Given the description of an element on the screen output the (x, y) to click on. 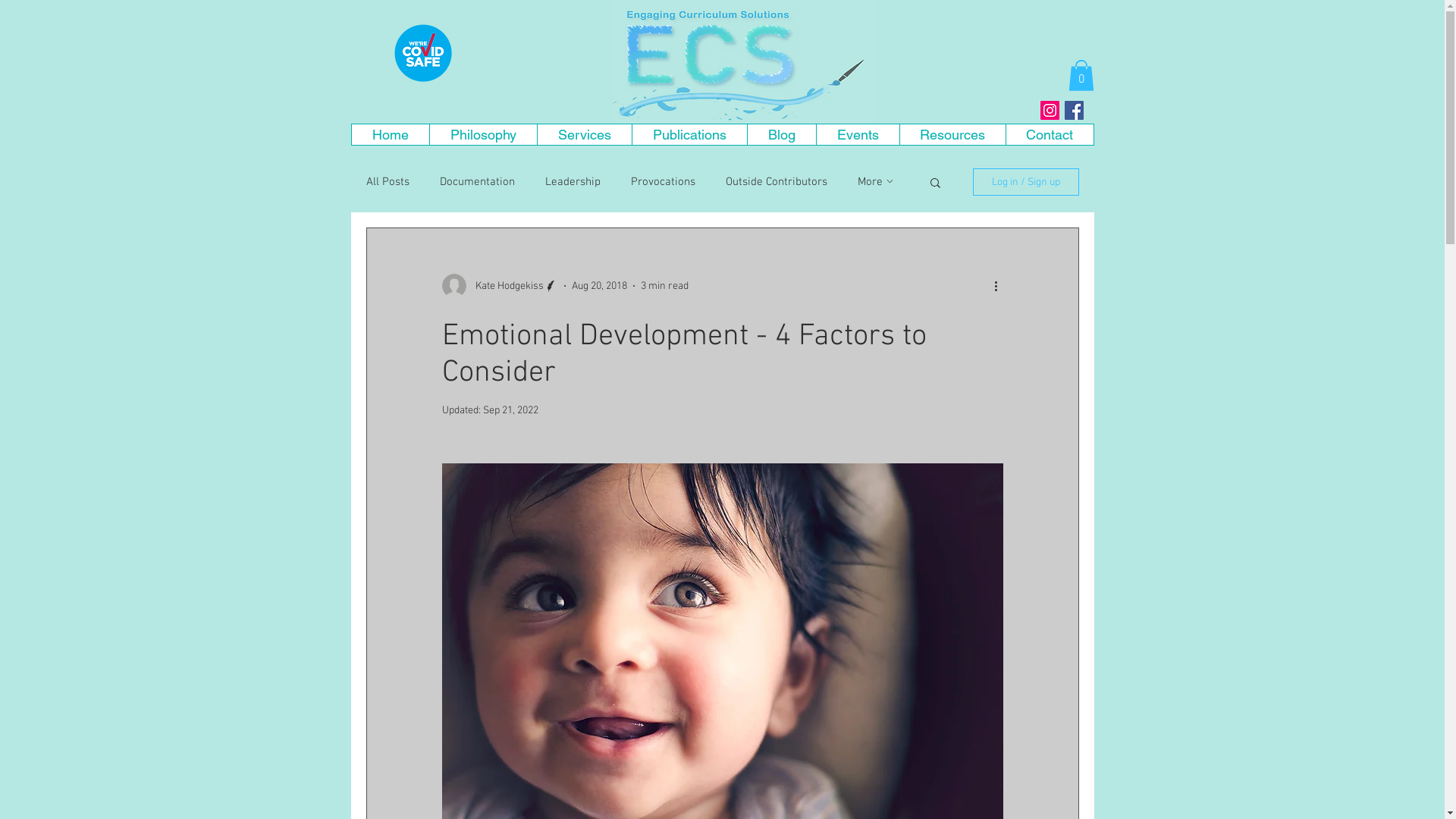
Leadership Element type: text (571, 181)
Log in / Sign up Element type: text (1025, 181)
Contact Element type: text (1049, 134)
Services Element type: text (583, 134)
Publications Element type: text (688, 134)
Blog Element type: text (780, 134)
Documentation Element type: text (476, 181)
Events Element type: text (857, 134)
Home Element type: text (390, 134)
Outside Contributors Element type: text (775, 181)
All Posts Element type: text (386, 181)
Provocations Element type: text (662, 181)
0 Element type: text (1080, 75)
Philosophy Element type: text (482, 134)
